Given the description of an element on the screen output the (x, y) to click on. 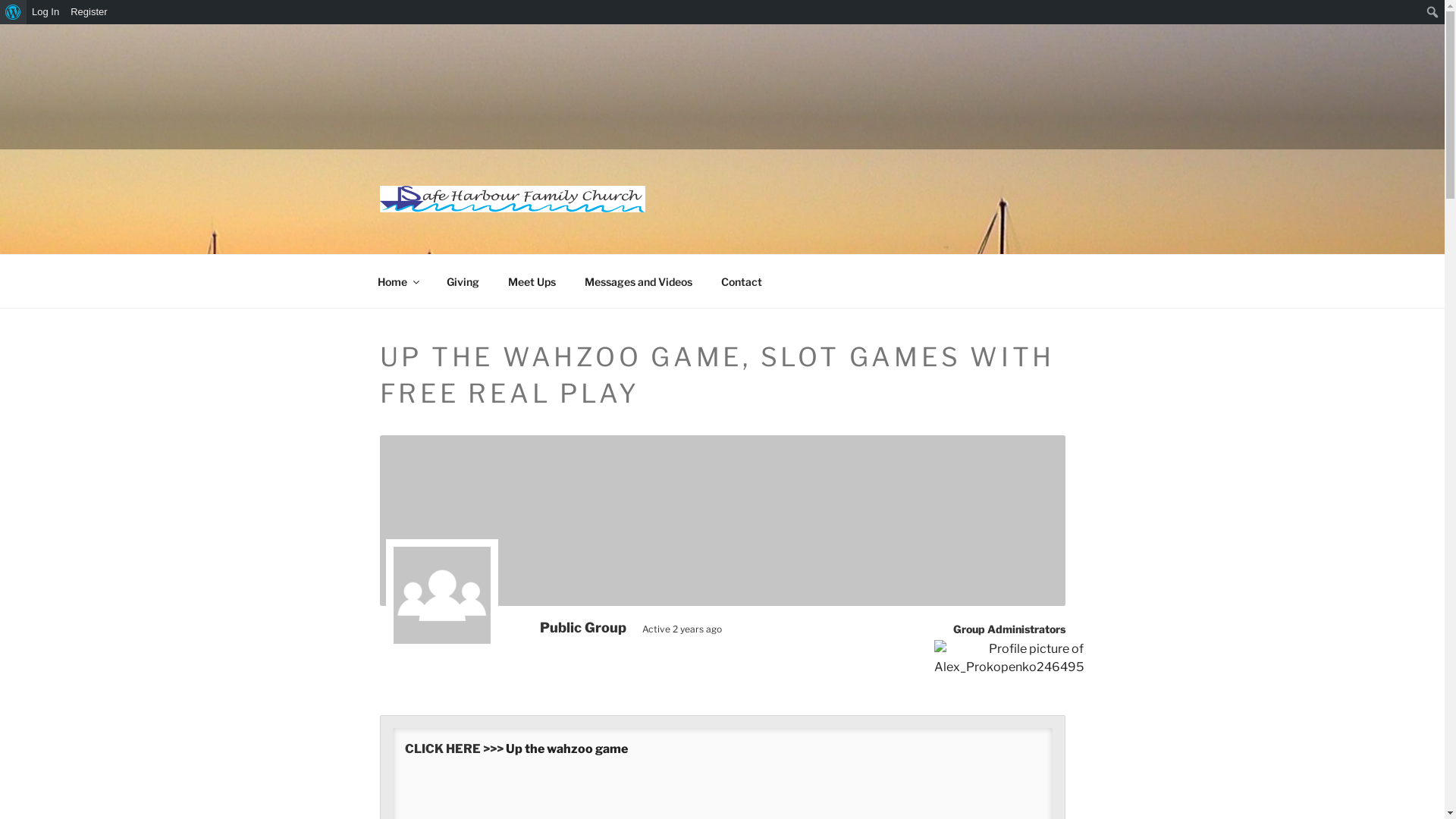
Contact Element type: text (741, 281)
Up the wahzoo game Element type: text (566, 748)
Giving Element type: text (462, 281)
Register Element type: text (88, 12)
Search Element type: text (15, 12)
Home Element type: text (397, 281)
Log In Element type: text (45, 12)
Meet Ups Element type: text (531, 281)
Messages and Videos Element type: text (638, 281)
Skip to content Element type: text (0, 24)
